Given the description of an element on the screen output the (x, y) to click on. 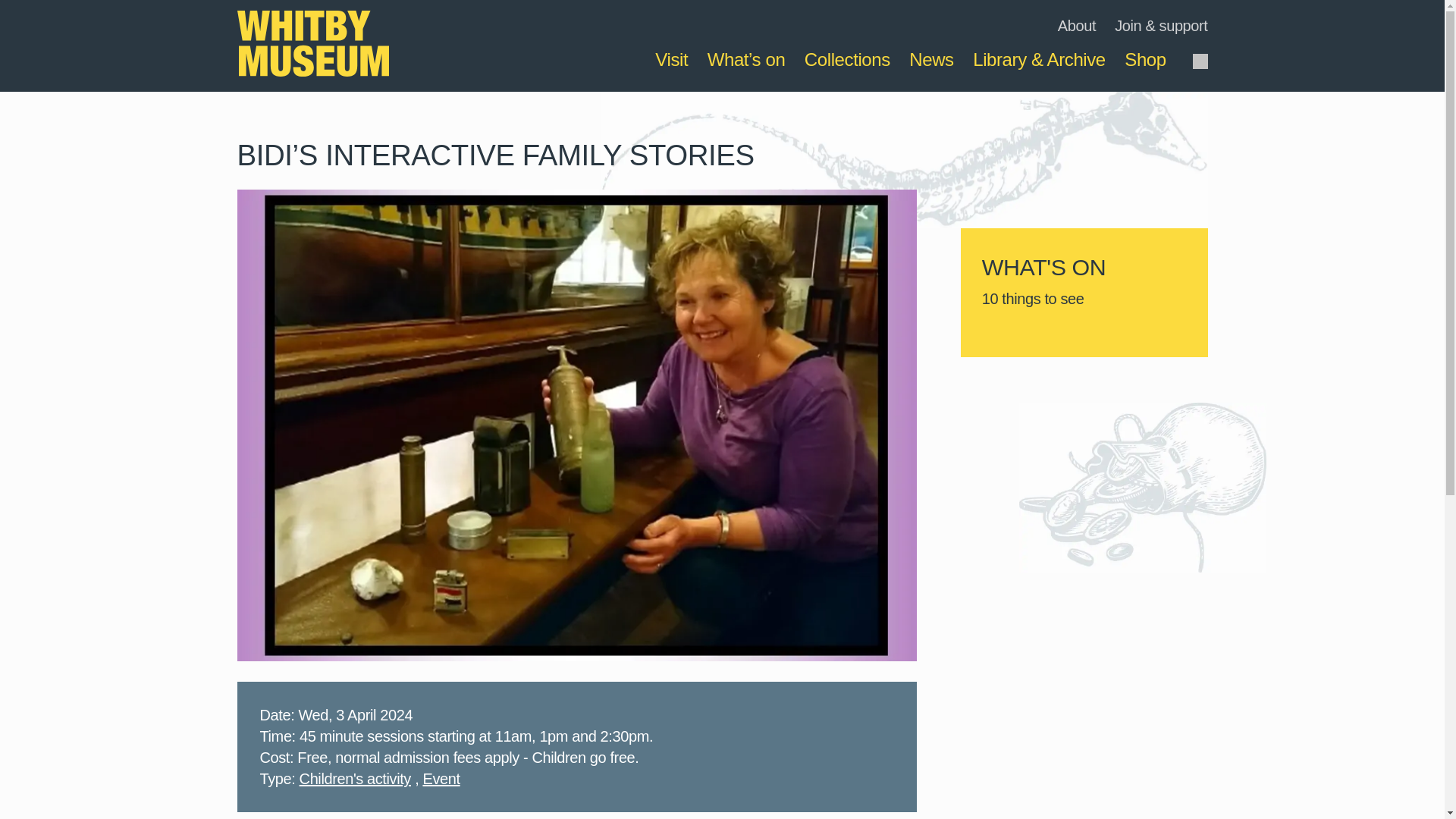
Shop (1145, 59)
WHAT'S ON (1082, 271)
Event (441, 779)
News (930, 59)
10 things to see (1082, 303)
Children's activity (354, 779)
